Given the description of an element on the screen output the (x, y) to click on. 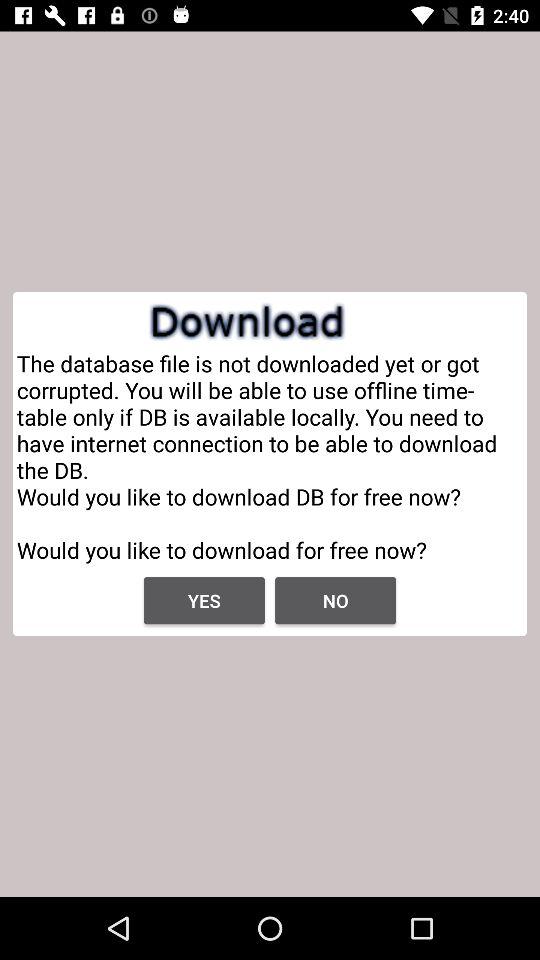
launch the no icon (335, 600)
